Given the description of an element on the screen output the (x, y) to click on. 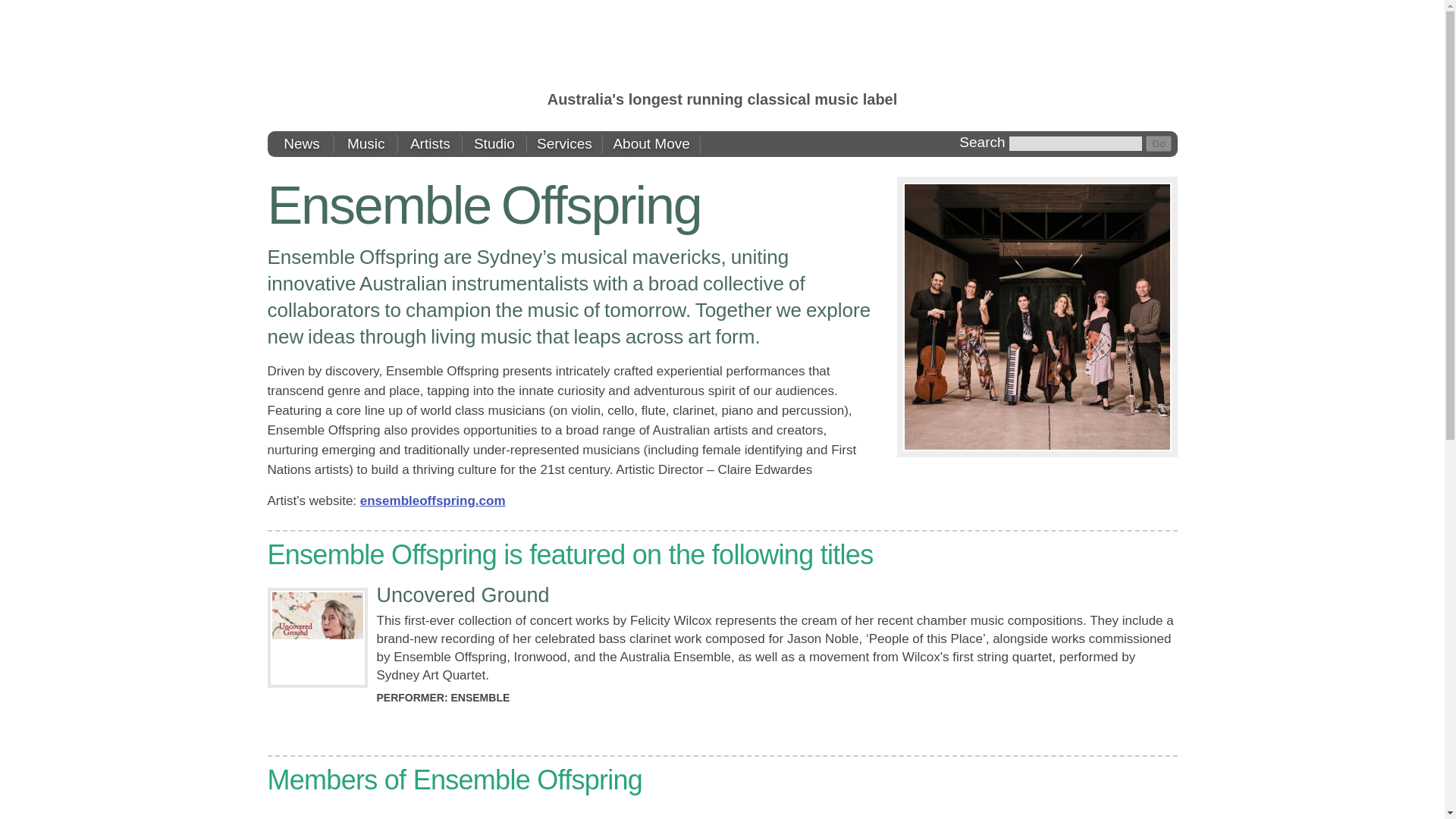
Go (1158, 143)
Studio (495, 144)
Uncovered Ground (461, 594)
Artists (430, 144)
Go (1158, 143)
Music (366, 144)
News (301, 144)
ensembleoffspring.com (432, 500)
Services (564, 144)
About Move (651, 144)
